Given the description of an element on the screen output the (x, y) to click on. 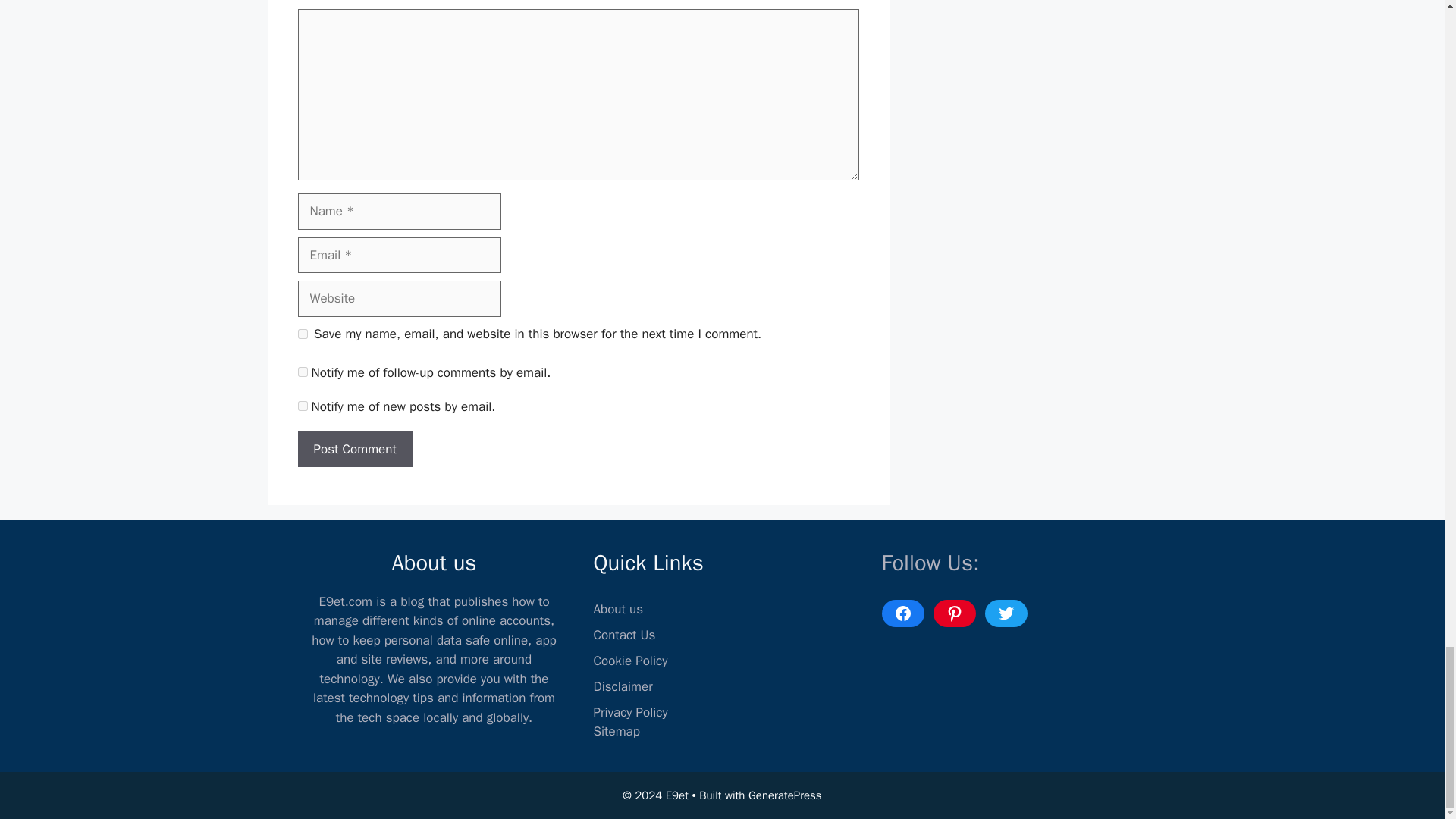
About us (617, 609)
Post Comment (354, 449)
subscribe (302, 406)
Disclaimer (622, 686)
Twitter (1005, 613)
Pinterest (954, 613)
Sitemap (615, 731)
Contact Us (623, 634)
subscribe (302, 371)
Facebook (901, 613)
Post Comment (354, 449)
Cookie Policy (629, 660)
GeneratePress (785, 795)
yes (302, 334)
Privacy Policy (629, 712)
